Given the description of an element on the screen output the (x, y) to click on. 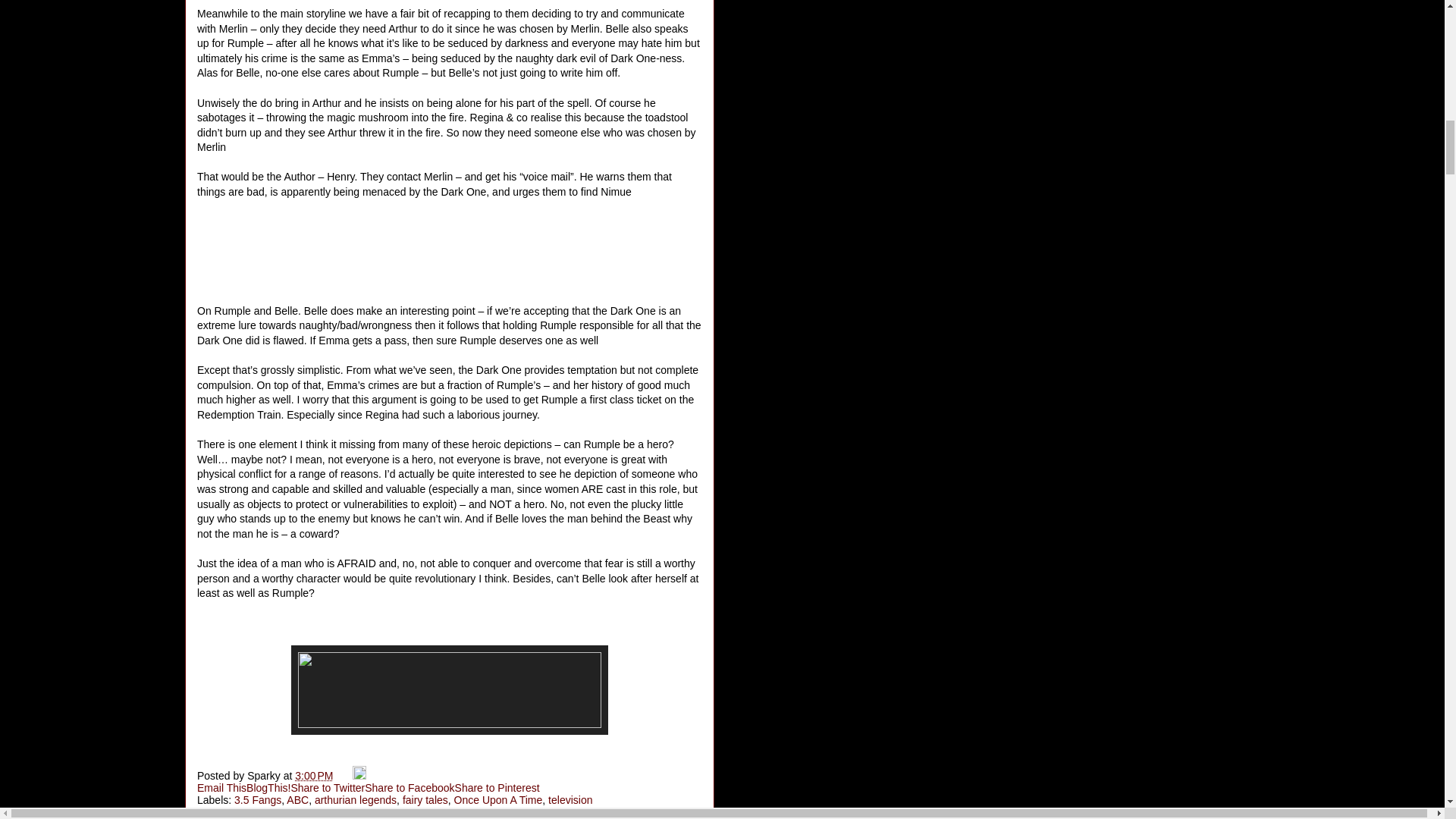
ABC (297, 799)
3.5 Fangs (257, 799)
Email This (221, 787)
Share to Pinterest (497, 787)
BlogThis! (267, 787)
Share to Twitter (327, 787)
arthurian legends (355, 799)
Email This (221, 787)
Share to Facebook (409, 787)
BlogThis! (267, 787)
permanent link (314, 775)
television (570, 799)
Share to Pinterest (497, 787)
Edit Post (359, 775)
